Given the description of an element on the screen output the (x, y) to click on. 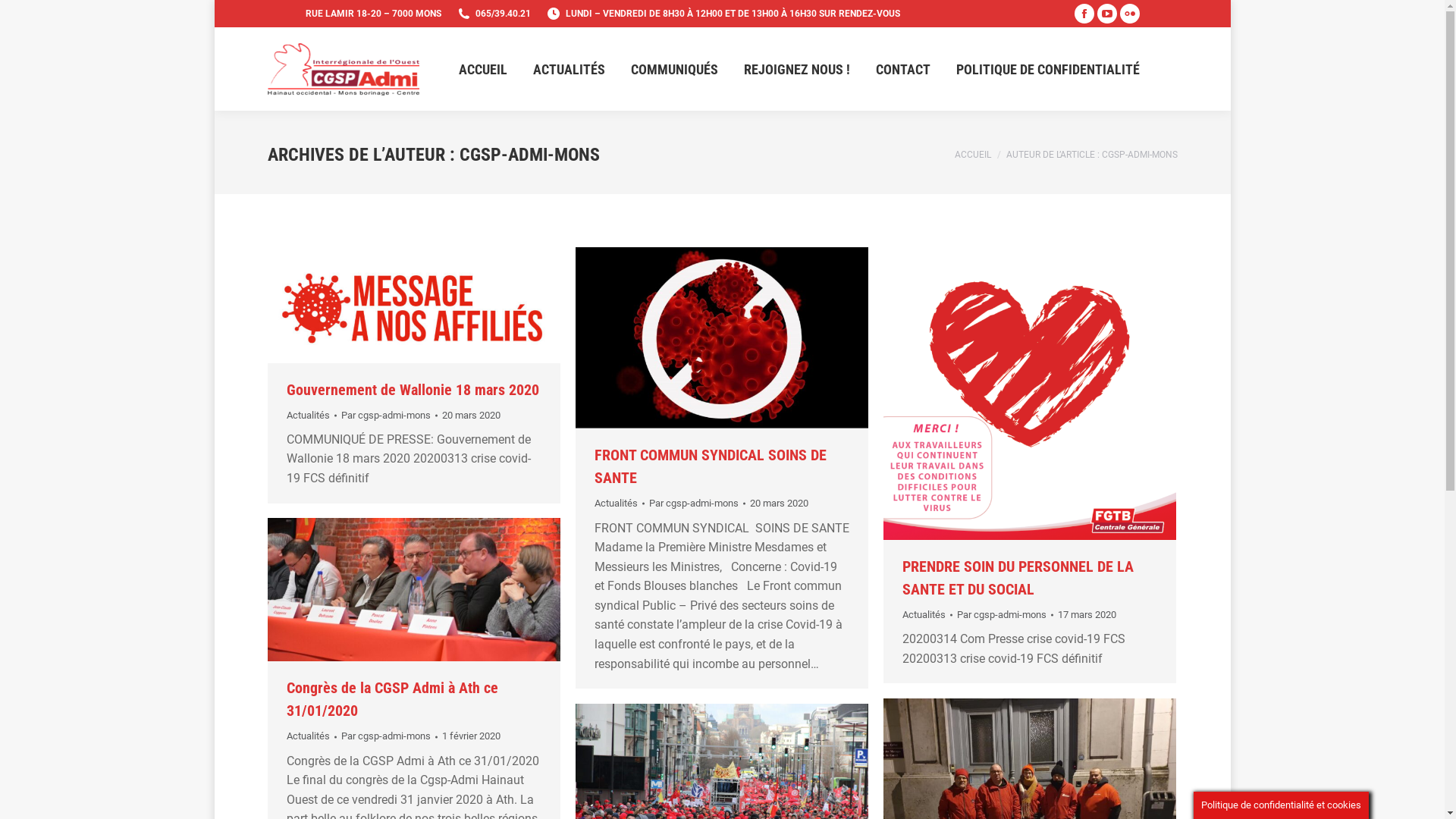
YouTube page opens in new window Element type: text (1106, 13)
CGSP-ADMI-MONS Element type: text (529, 154)
Flickr page opens in new window Element type: text (1129, 13)
REJOIGNEZ NOUS ! Element type: text (796, 68)
FRONT COMMUN SYNDICAL SOINS DE SANTE Element type: text (710, 465)
Par cgsp-admi-mons Element type: text (389, 415)
20 mars 2020 Element type: text (470, 415)
001 Element type: hover (412, 589)
ACCUEIL Element type: text (481, 68)
Gouvernement de Wallonie 18 mars 2020 Element type: text (412, 389)
ETThDymXkAArryb Element type: hover (1028, 393)
Facebook page opens in new window Element type: text (1083, 13)
Corona-FR Element type: hover (412, 305)
17 mars 2020 Element type: text (1086, 614)
Par cgsp-admi-mons Element type: text (697, 503)
Par cgsp-admi-mons Element type: text (1005, 614)
Par cgsp-admi-mons Element type: text (389, 736)
CONTACT Element type: text (902, 68)
ACCUEIL Element type: text (971, 153)
20 mars 2020 Element type: text (778, 503)
PRENDRE SOIN DU PERSONNEL DE LA SANTE ET DU SOCIAL Element type: text (1017, 577)
